Given the description of an element on the screen output the (x, y) to click on. 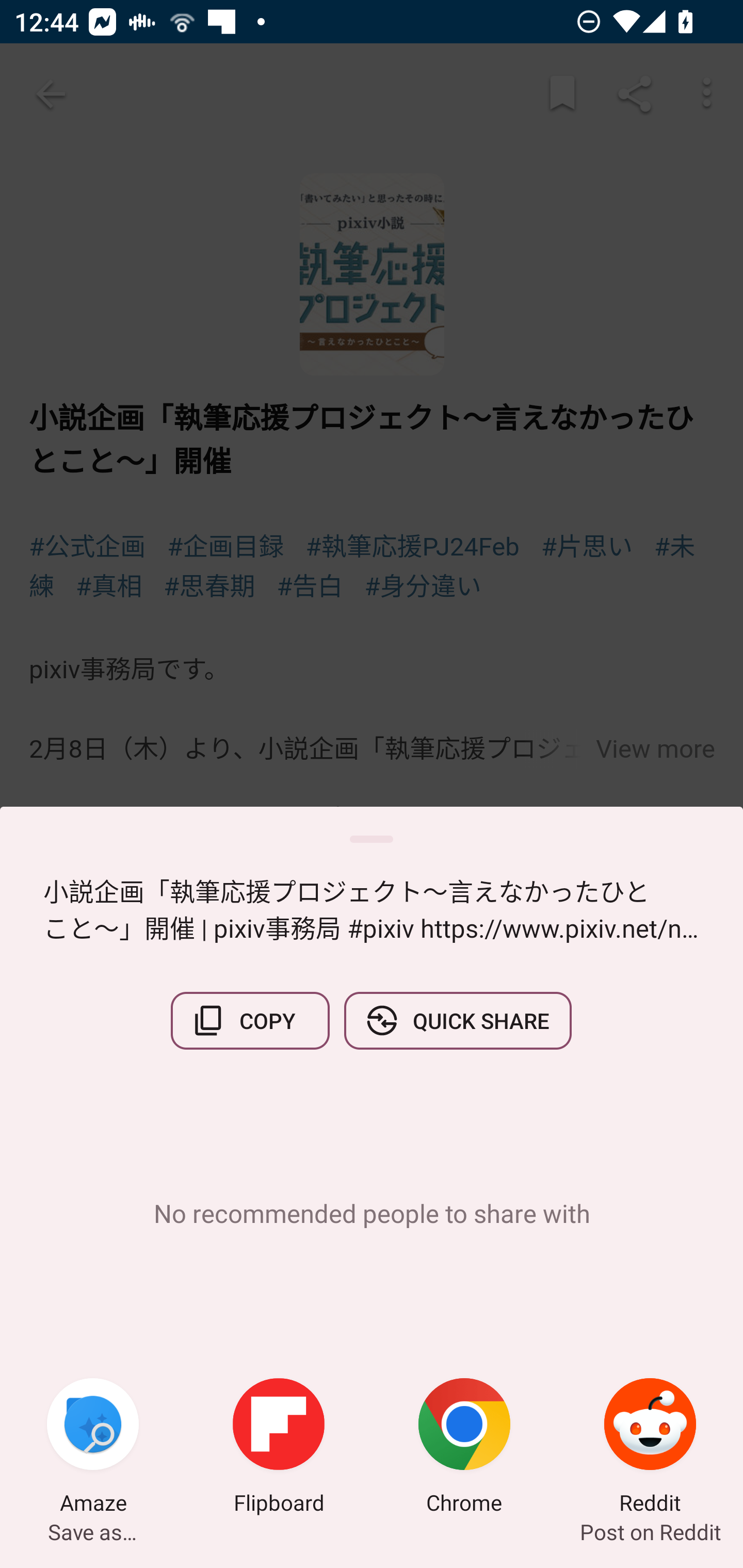
COPY (249, 1020)
QUICK SHARE (457, 1020)
Amaze Save as… (92, 1448)
Flipboard (278, 1448)
Chrome (464, 1448)
Reddit Post on Reddit (650, 1448)
